Given the description of an element on the screen output the (x, y) to click on. 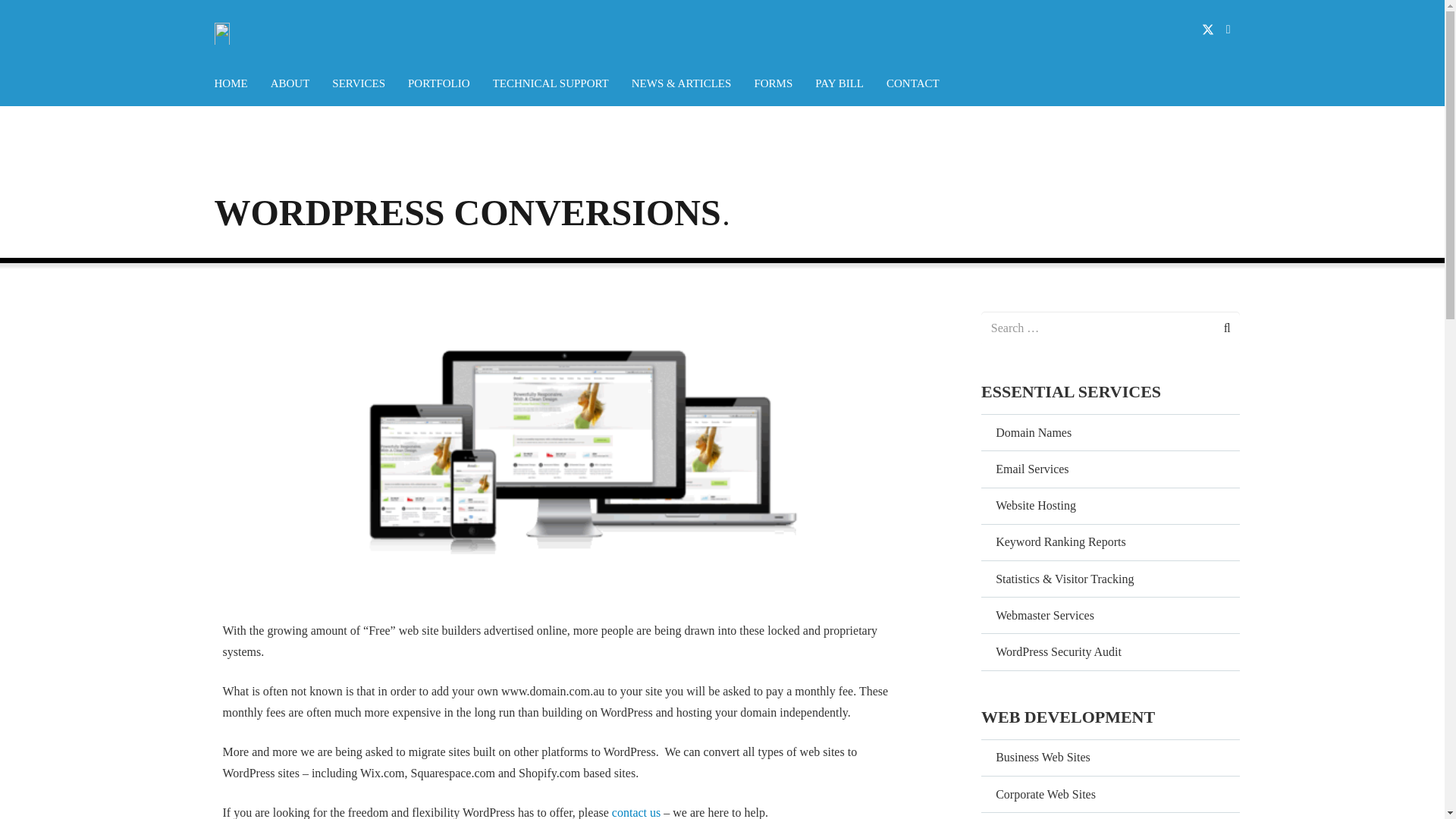
Corporate Web Sites (1110, 793)
ABOUT (290, 83)
WordPress Security Audit (1110, 651)
Email Services (1110, 468)
TECHNICAL SUPPORT (550, 83)
Domain Names (1110, 432)
Custom Website Development (1110, 815)
Search (1215, 328)
Keyword Ranking Reports (1110, 542)
PORTFOLIO (438, 83)
